Given the description of an element on the screen output the (x, y) to click on. 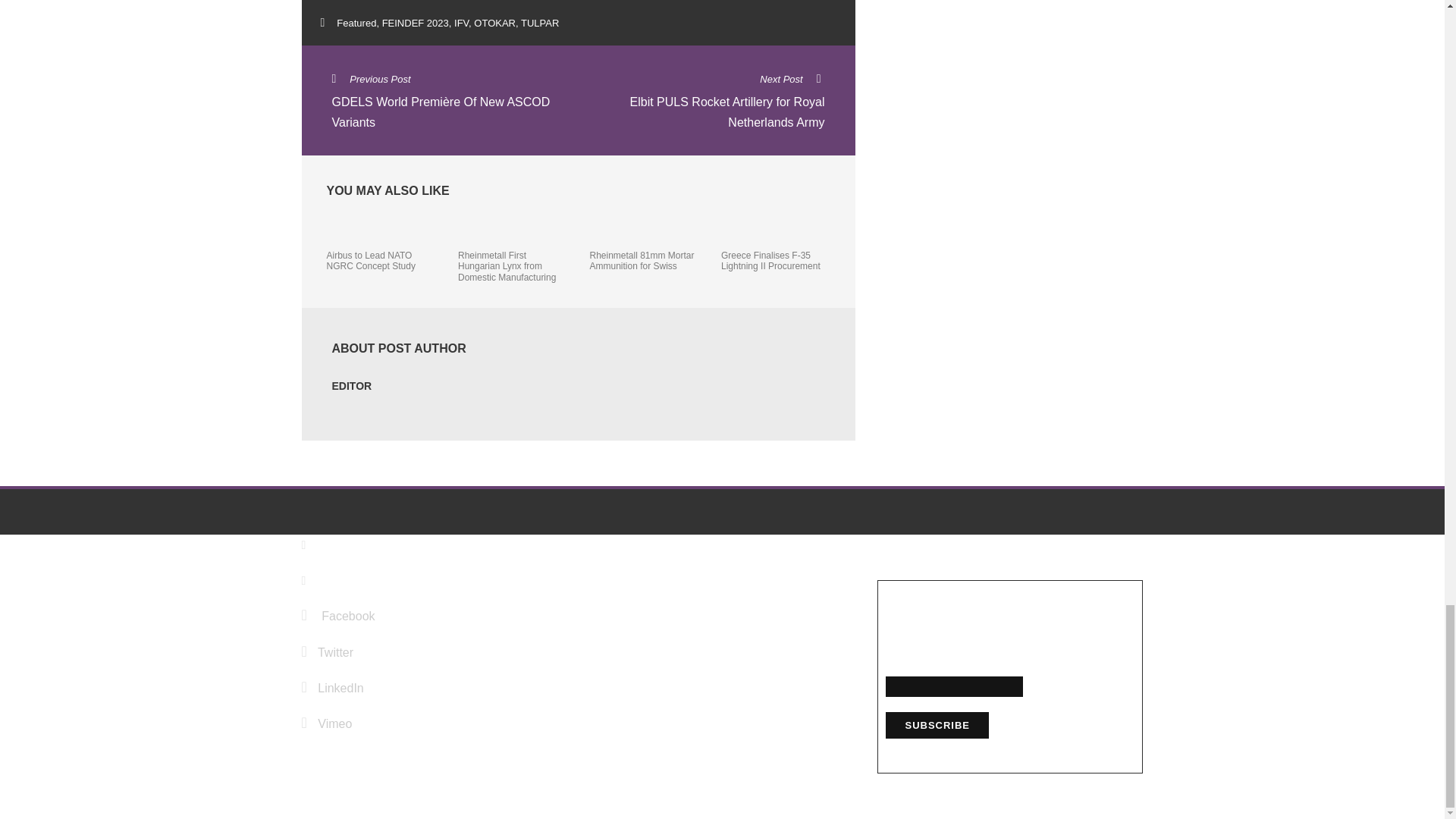
Subscribe (936, 724)
Posts by Editor (351, 386)
